Given the description of an element on the screen output the (x, y) to click on. 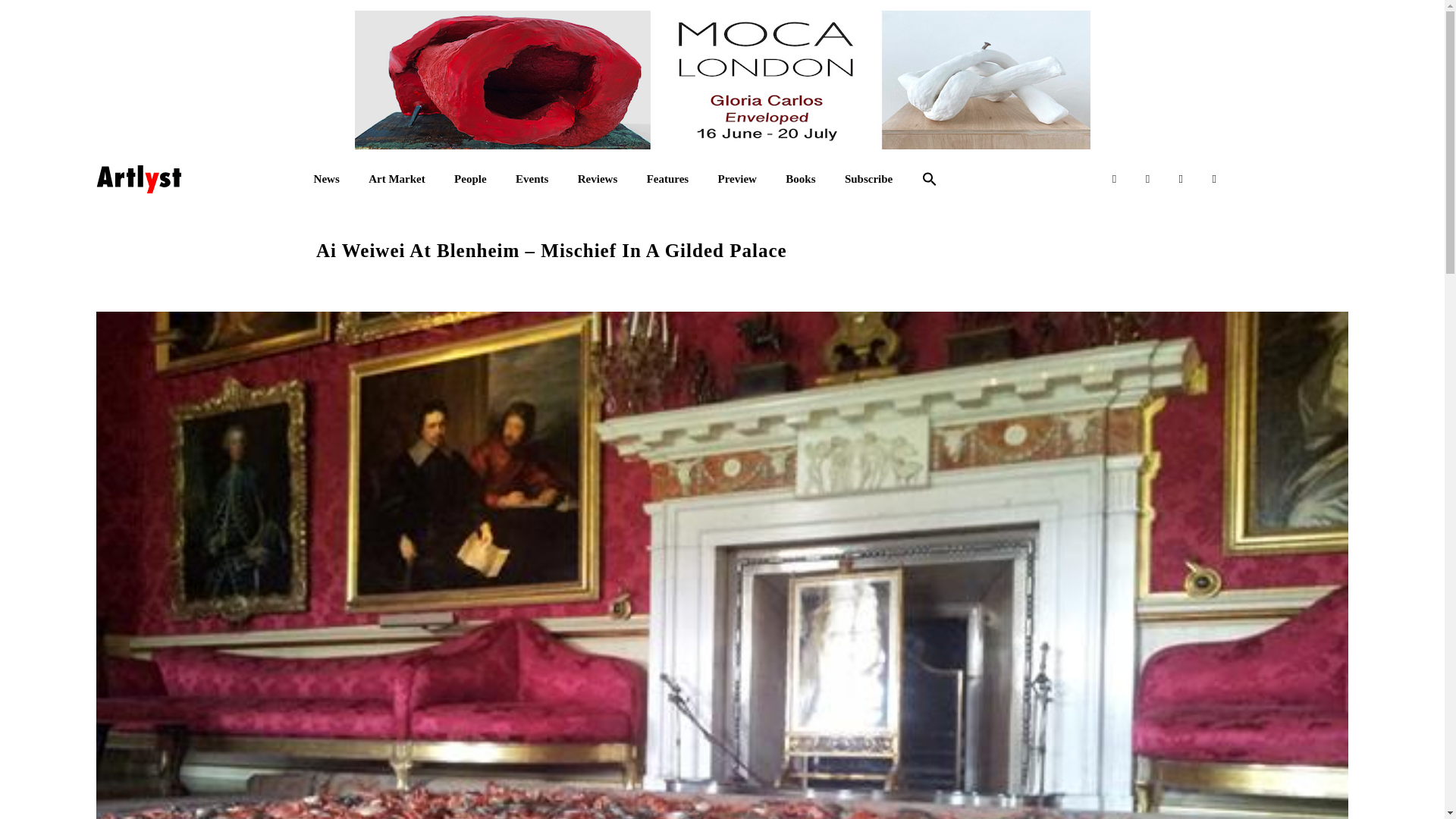
People (470, 178)
Art Market (396, 178)
Reviews (597, 178)
Subscribe (868, 178)
Preview (737, 178)
Books (800, 178)
Events (531, 178)
Features (667, 178)
News (326, 178)
